Given the description of an element on the screen output the (x, y) to click on. 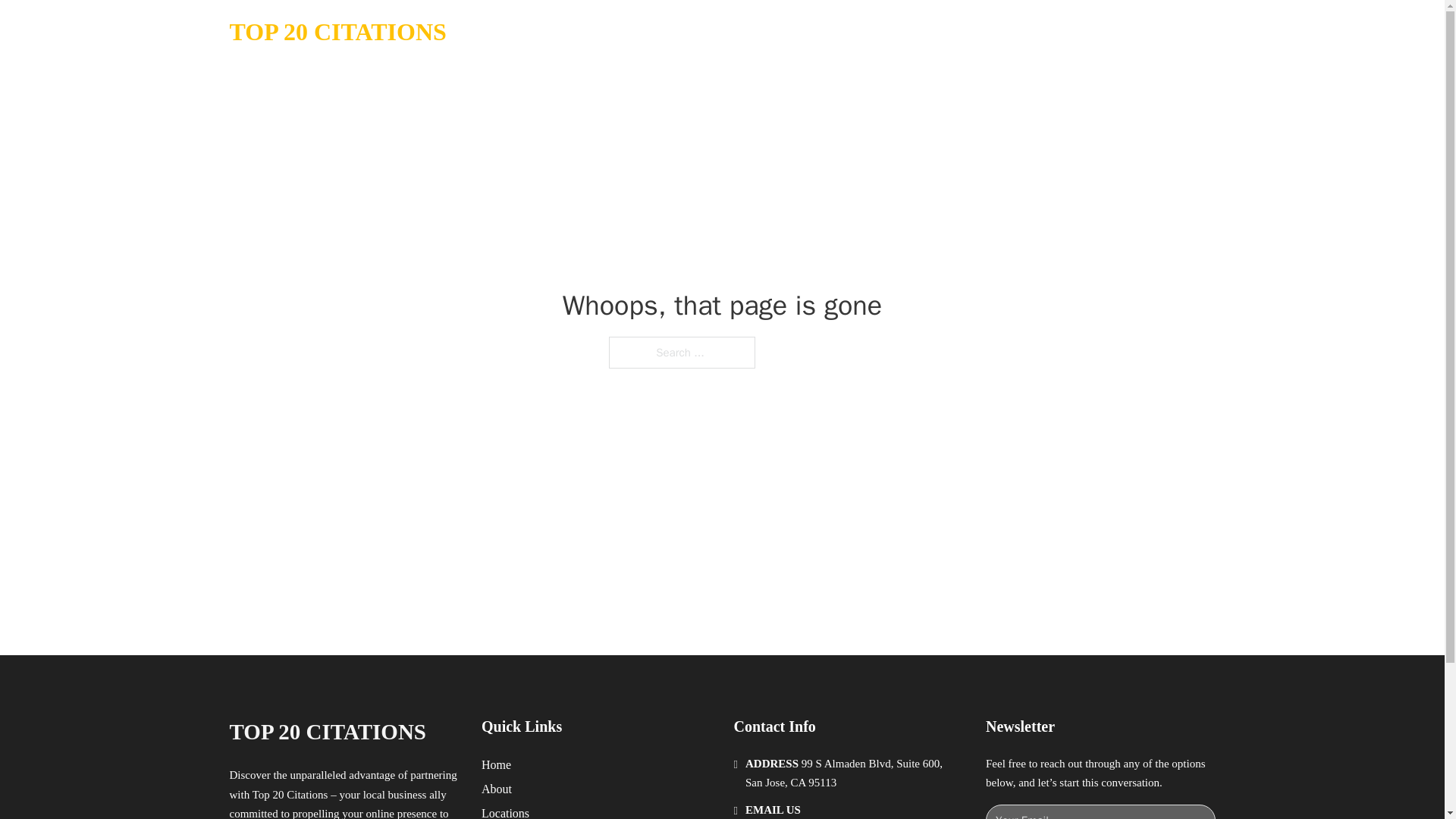
About (496, 788)
LOCATIONS (1098, 31)
Locations (505, 811)
HOME (1025, 31)
TOP 20 CITATIONS (326, 732)
TOP 20 CITATIONS (336, 31)
Home (496, 764)
